Given the description of an element on the screen output the (x, y) to click on. 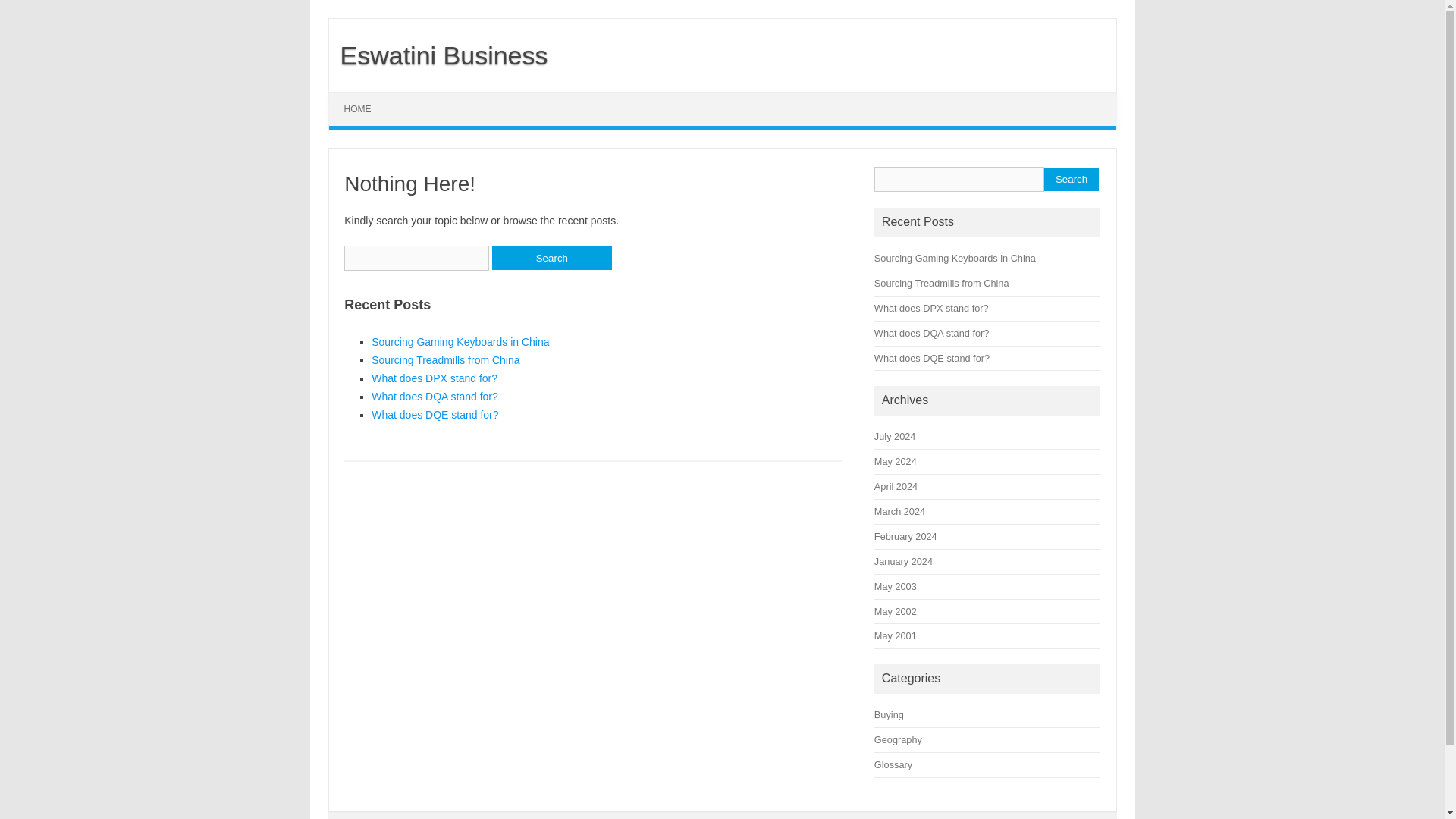
What does DPX stand for? (434, 378)
Glossary (893, 764)
July 2024 (895, 436)
Sourcing Gaming Keyboards in China (459, 341)
May 2002 (896, 611)
What does DQE stand for? (932, 357)
February 2024 (906, 536)
Skip to content (363, 96)
What does DQA stand for? (434, 396)
Search (1070, 178)
